Given the description of an element on the screen output the (x, y) to click on. 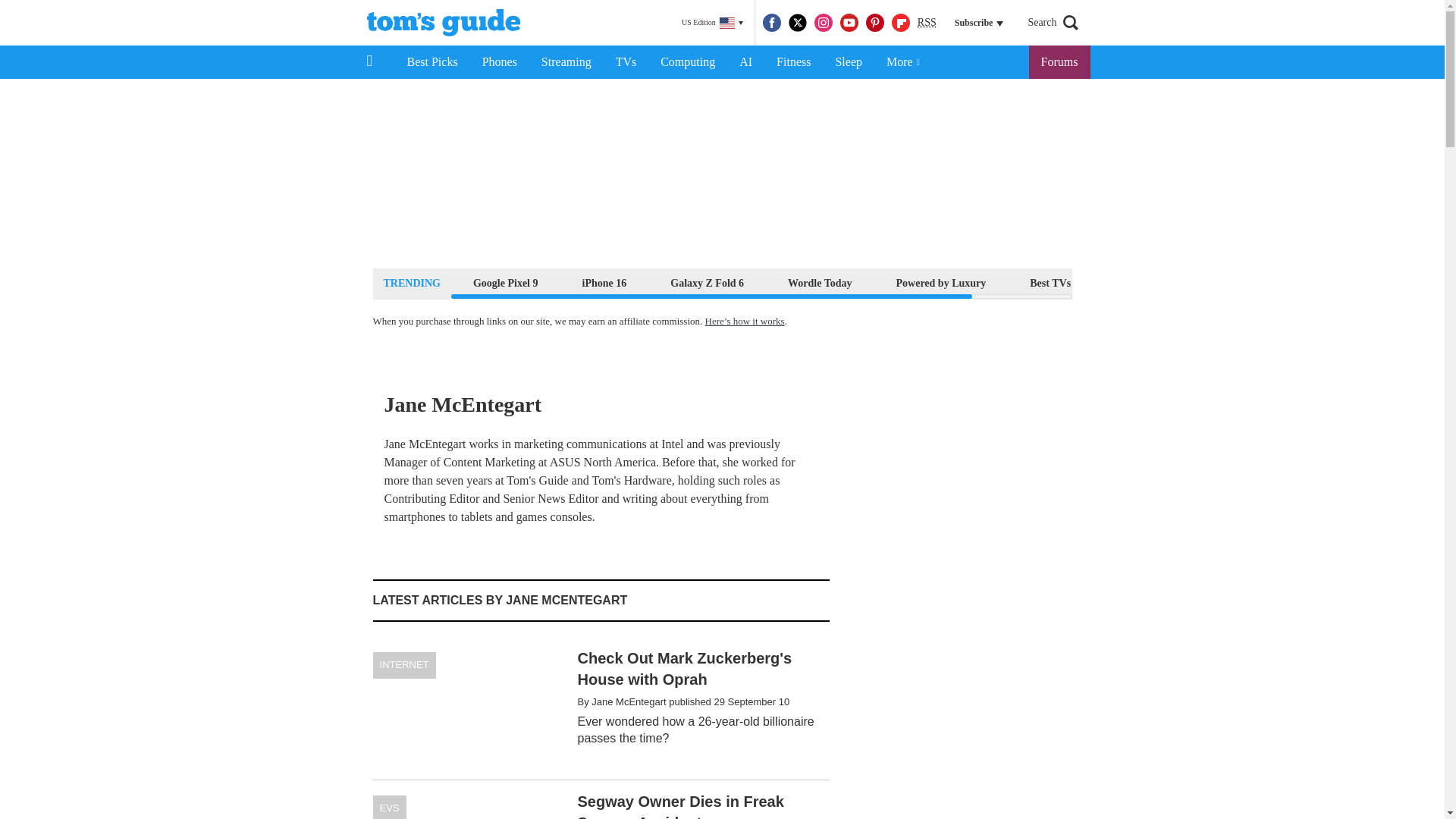
Computing (686, 61)
RSS (926, 22)
Streaming (566, 61)
Really Simple Syndication (926, 21)
Sleep (848, 61)
US Edition (712, 22)
AI (745, 61)
Fitness (793, 61)
TVs (626, 61)
Phones (499, 61)
